Given the description of an element on the screen output the (x, y) to click on. 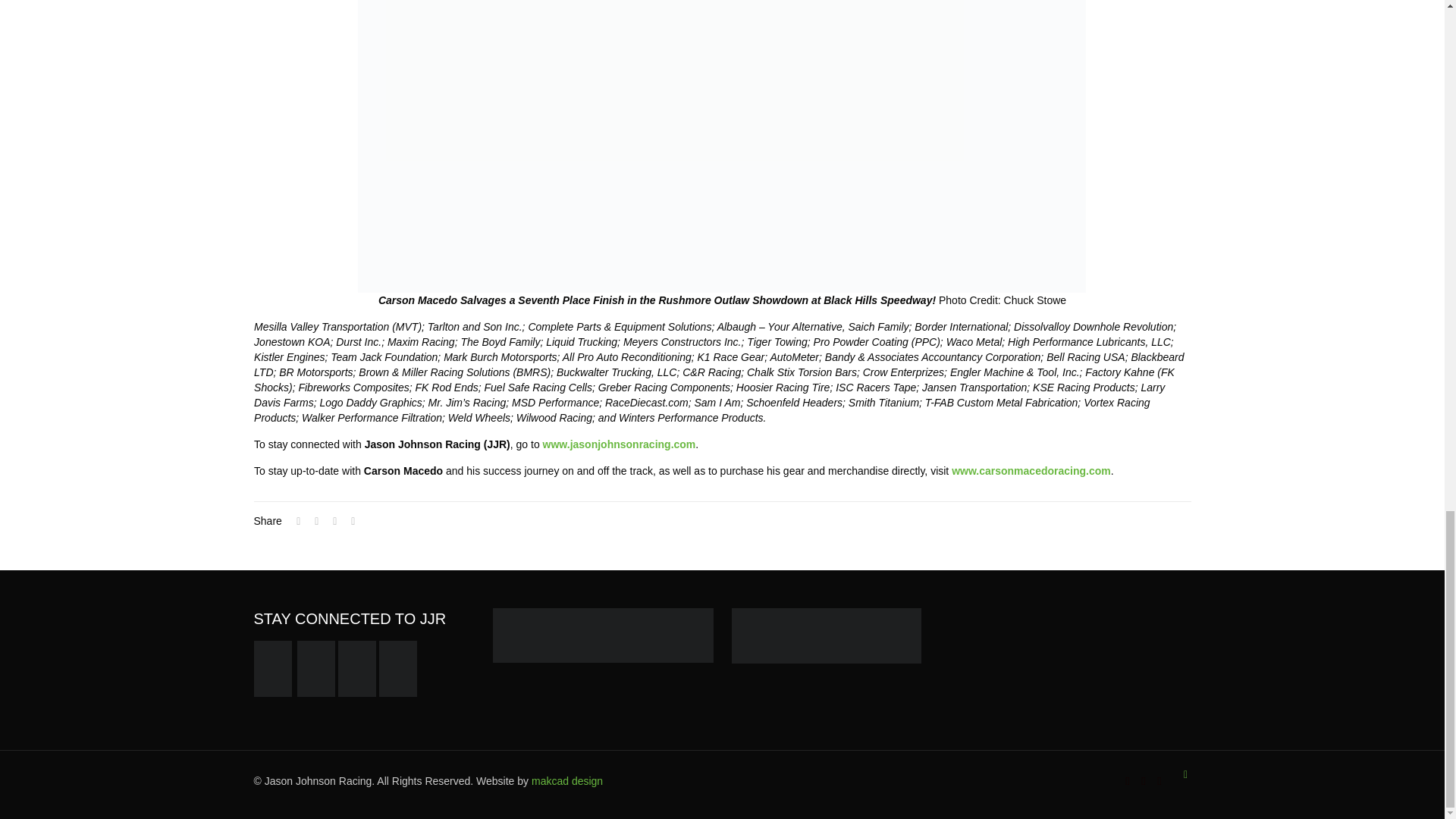
www.jasonjohnsonracing.com (619, 444)
Facebook (1128, 780)
makcad design (566, 780)
Instagram (1160, 780)
www.carsonmacedoracing.com (1031, 470)
